Given the description of an element on the screen output the (x, y) to click on. 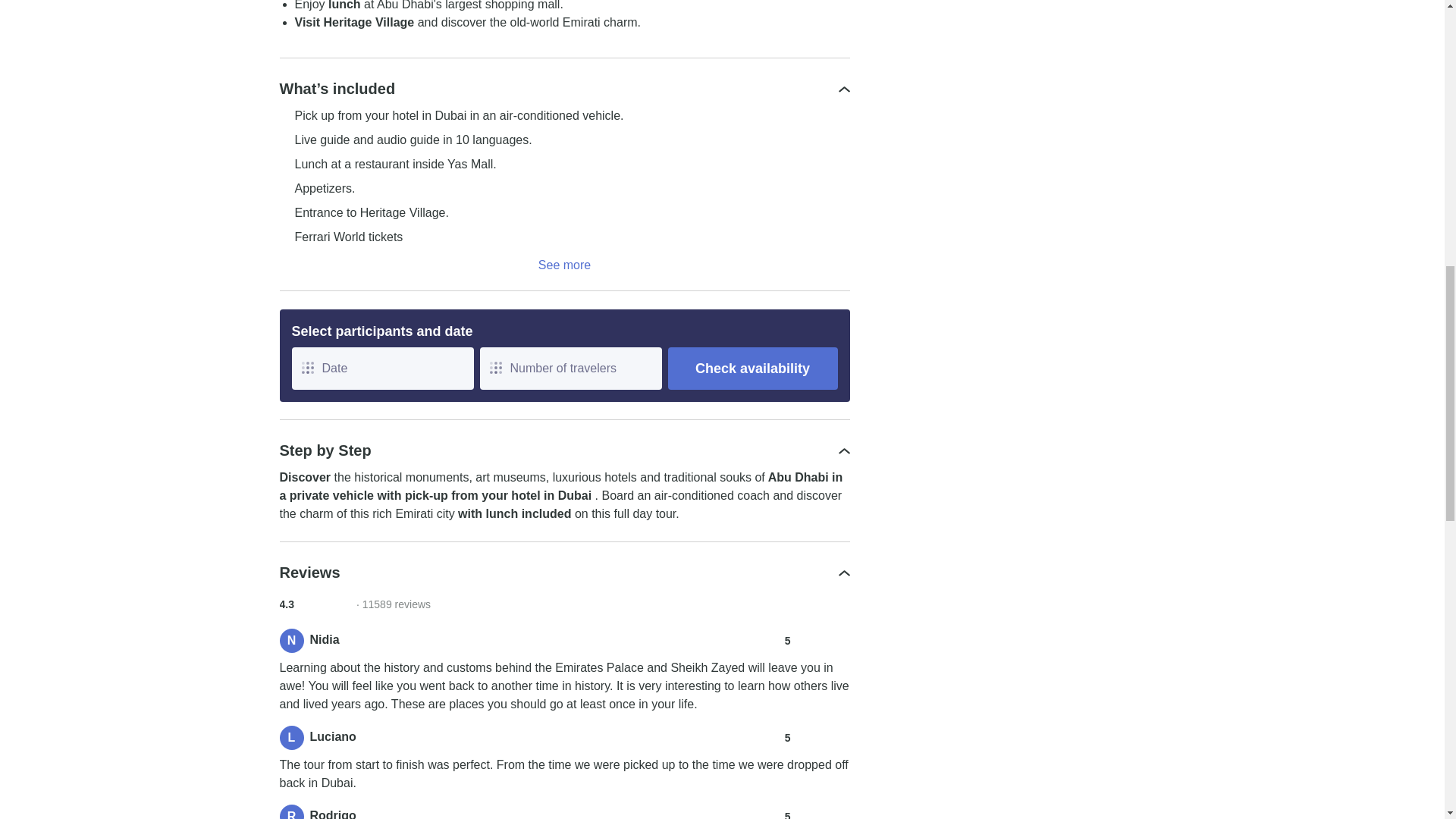
Check availability (751, 368)
Number of travelers (570, 368)
See more (563, 264)
